Given the description of an element on the screen output the (x, y) to click on. 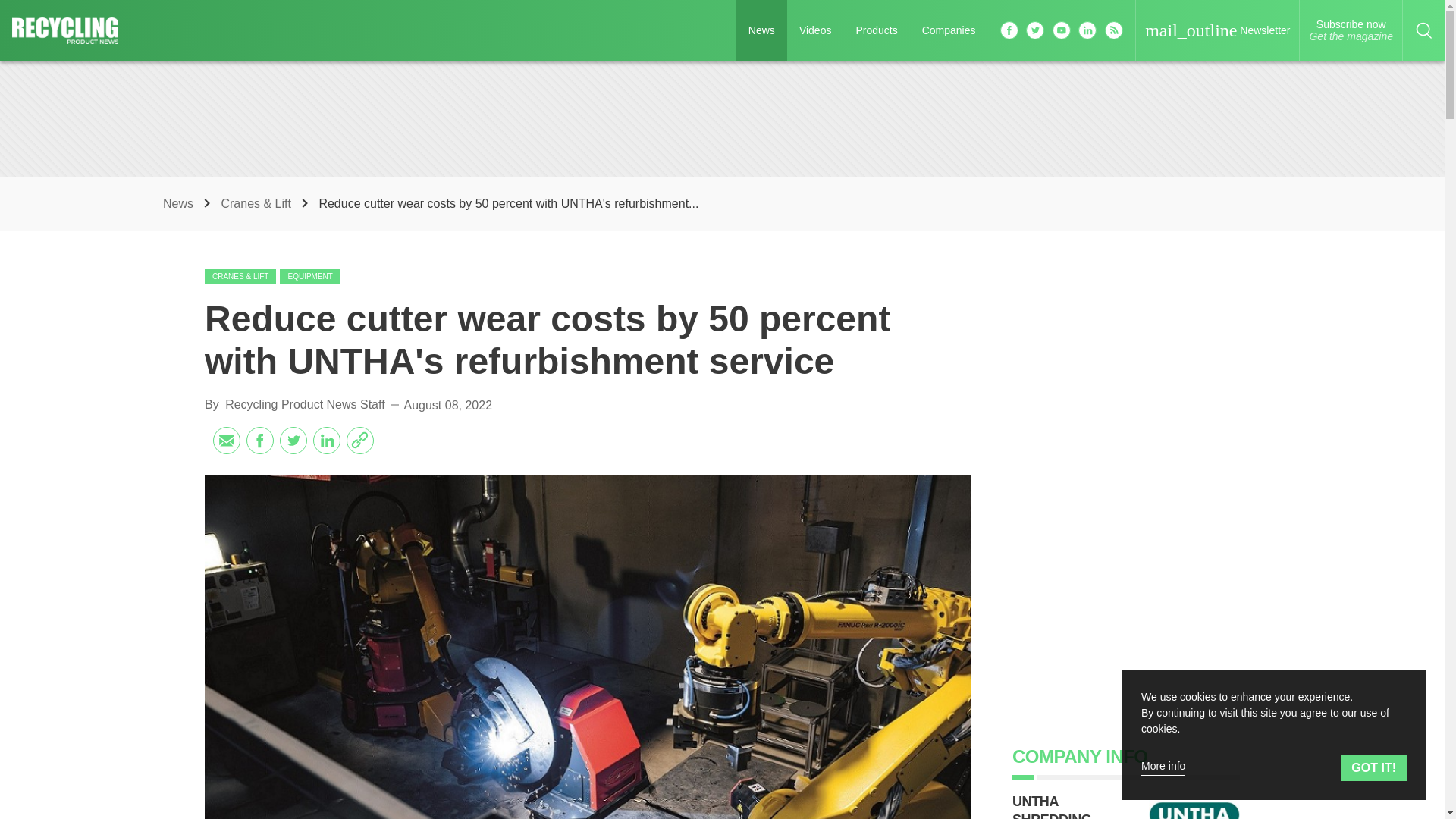
Products (875, 30)
News (1351, 30)
UNTHA SHREDDING TECHNOLOGY (179, 203)
EQUIPMENT (1058, 806)
UNTHA Shredding Technology (309, 276)
3rd party ad content (1194, 808)
Companies (721, 119)
Cutter blades in the middle of being refurbished (949, 30)
Videos (304, 404)
